Given the description of an element on the screen output the (x, y) to click on. 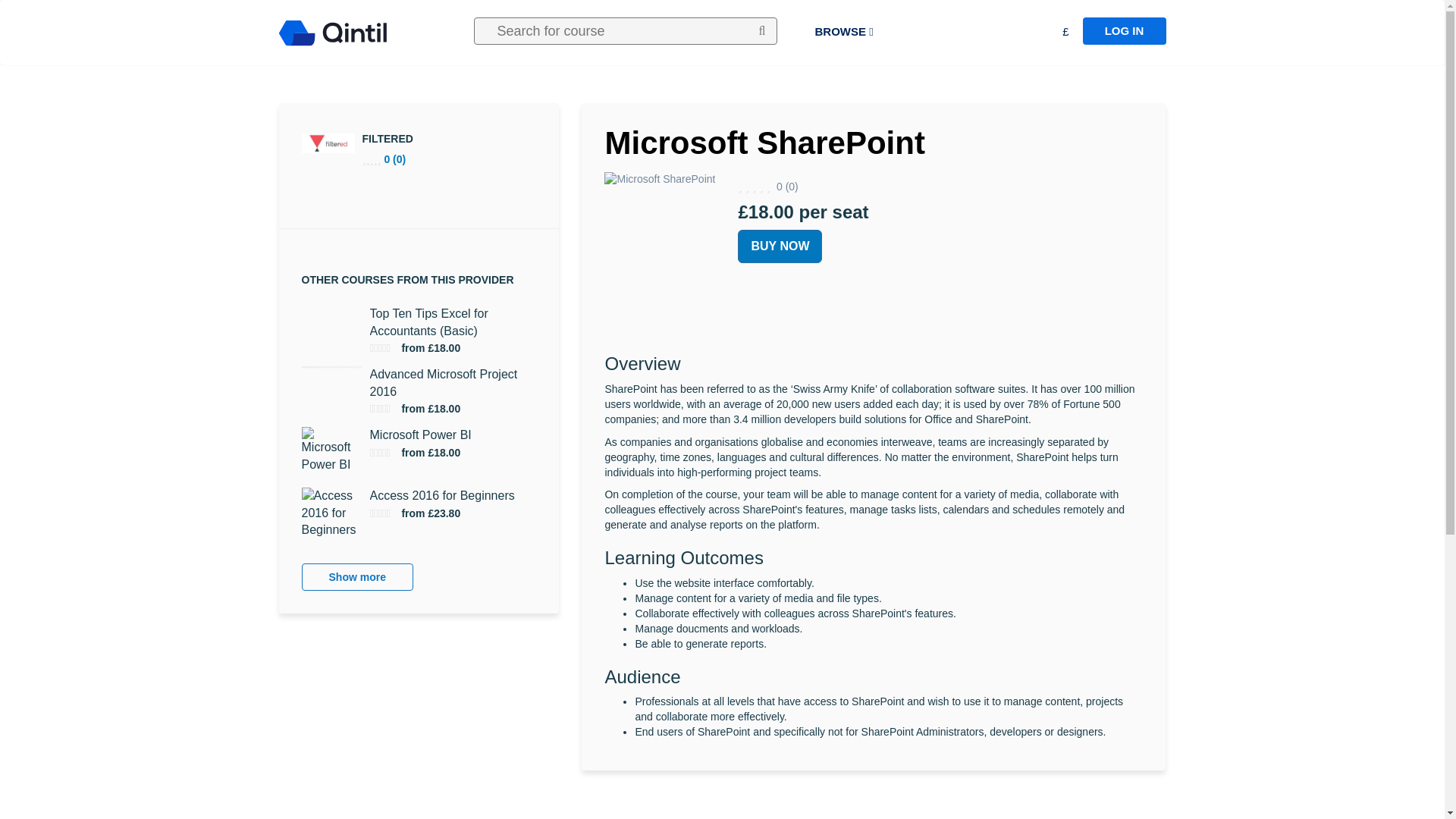
BROWSE (842, 31)
